Given the description of an element on the screen output the (x, y) to click on. 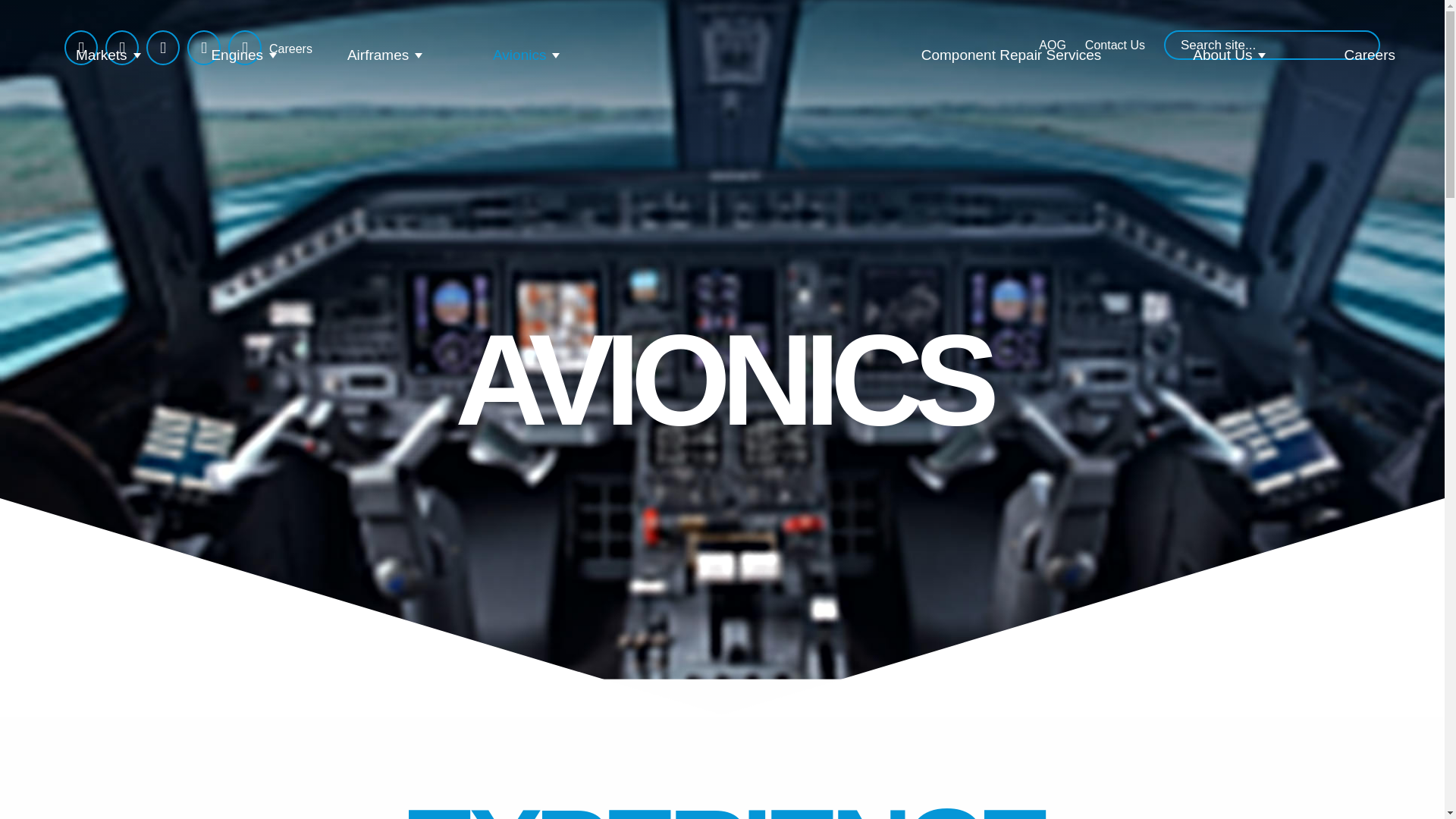
Engines (237, 54)
Careers (285, 49)
Markets (101, 54)
StandardAero (666, 55)
